Given the description of an element on the screen output the (x, y) to click on. 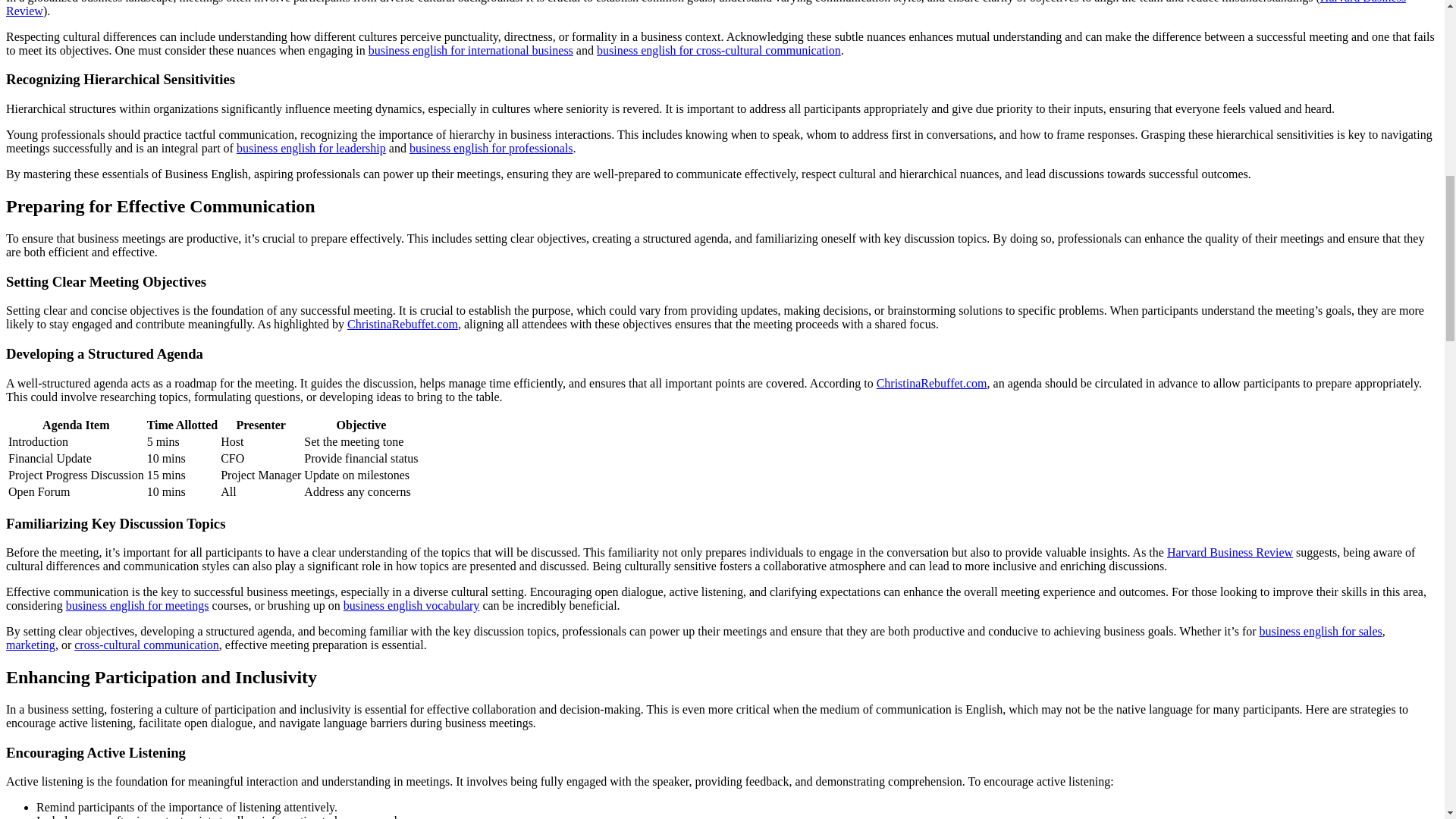
business english for cross-cultural communication (718, 50)
business english vocabulary (411, 604)
cross-cultural communication (146, 644)
business english for professionals (491, 147)
business english for international business (470, 50)
business english for meetings (137, 604)
Harvard Business Review (705, 8)
ChristinaRebuffet.com (931, 382)
ChristinaRebuffet.com (402, 323)
marketing (30, 644)
